Given the description of an element on the screen output the (x, y) to click on. 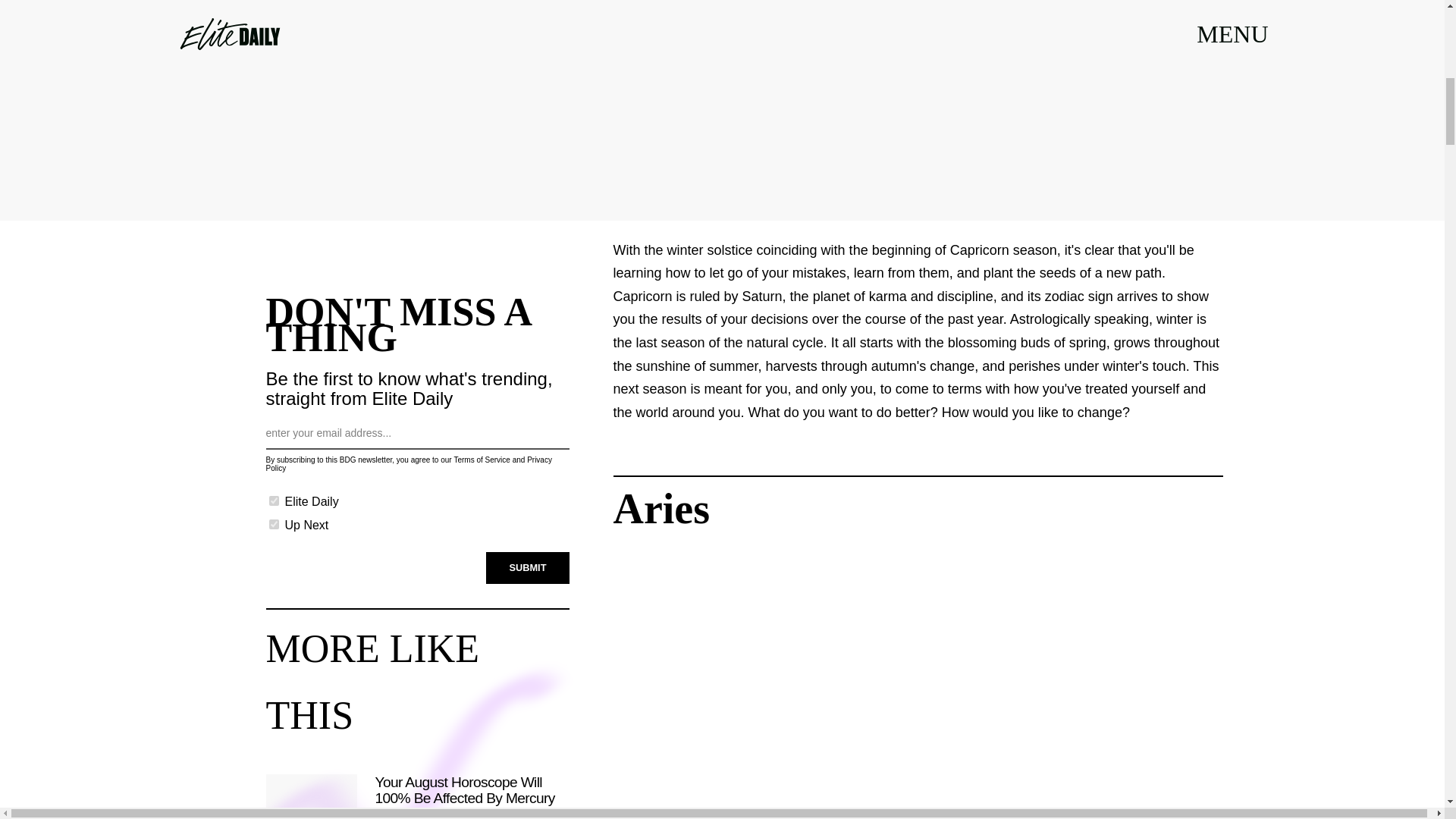
Terms of Service (480, 459)
Privacy Policy (407, 463)
SUBMIT (527, 567)
